Given the description of an element on the screen output the (x, y) to click on. 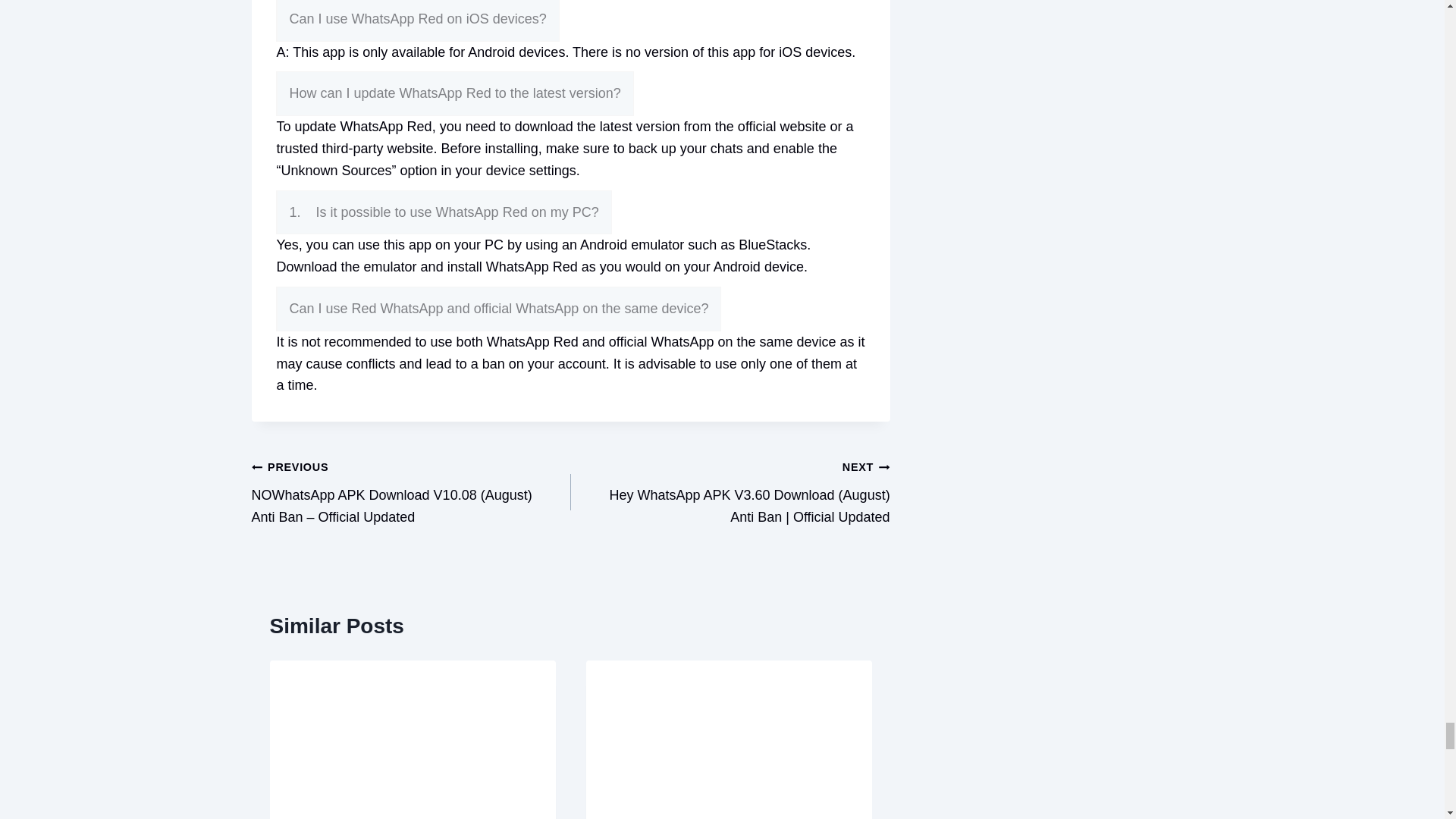
Can I use WhatsApp Red on iOS devices? (417, 20)
1.    Is it possible to use WhatsApp Red on my PC? (443, 212)
How can I update WhatsApp Red to the latest version? (454, 93)
